Given the description of an element on the screen output the (x, y) to click on. 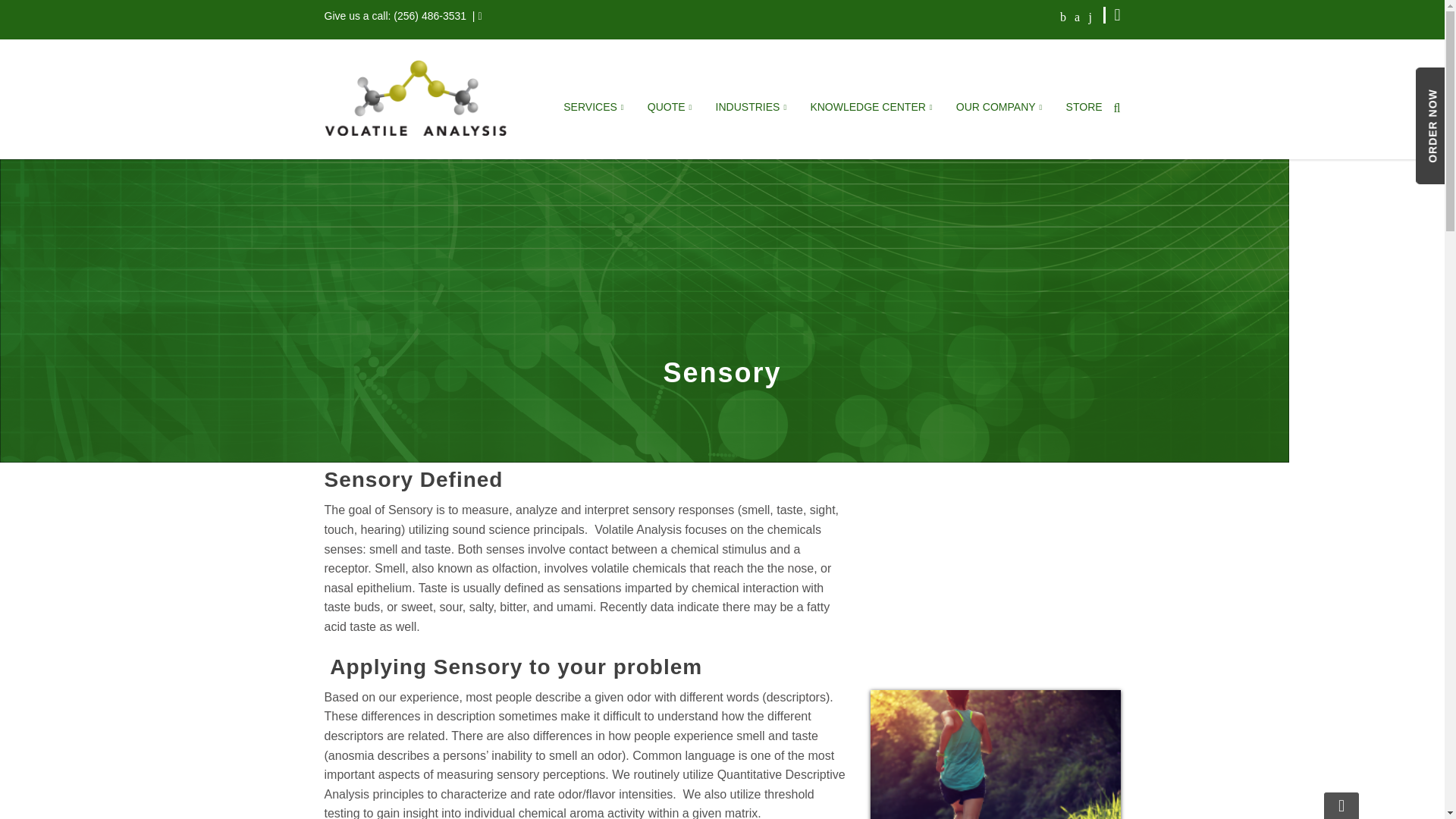
Odor and Aroma Consulting (593, 263)
SERVICES (593, 108)
Find Us On Linkedin! (1090, 15)
Analytical Testing Laboratory (593, 208)
Sensory (593, 319)
Find Us On Facebook! (1062, 15)
Find Us On Twitter! (1077, 15)
